Given the description of an element on the screen output the (x, y) to click on. 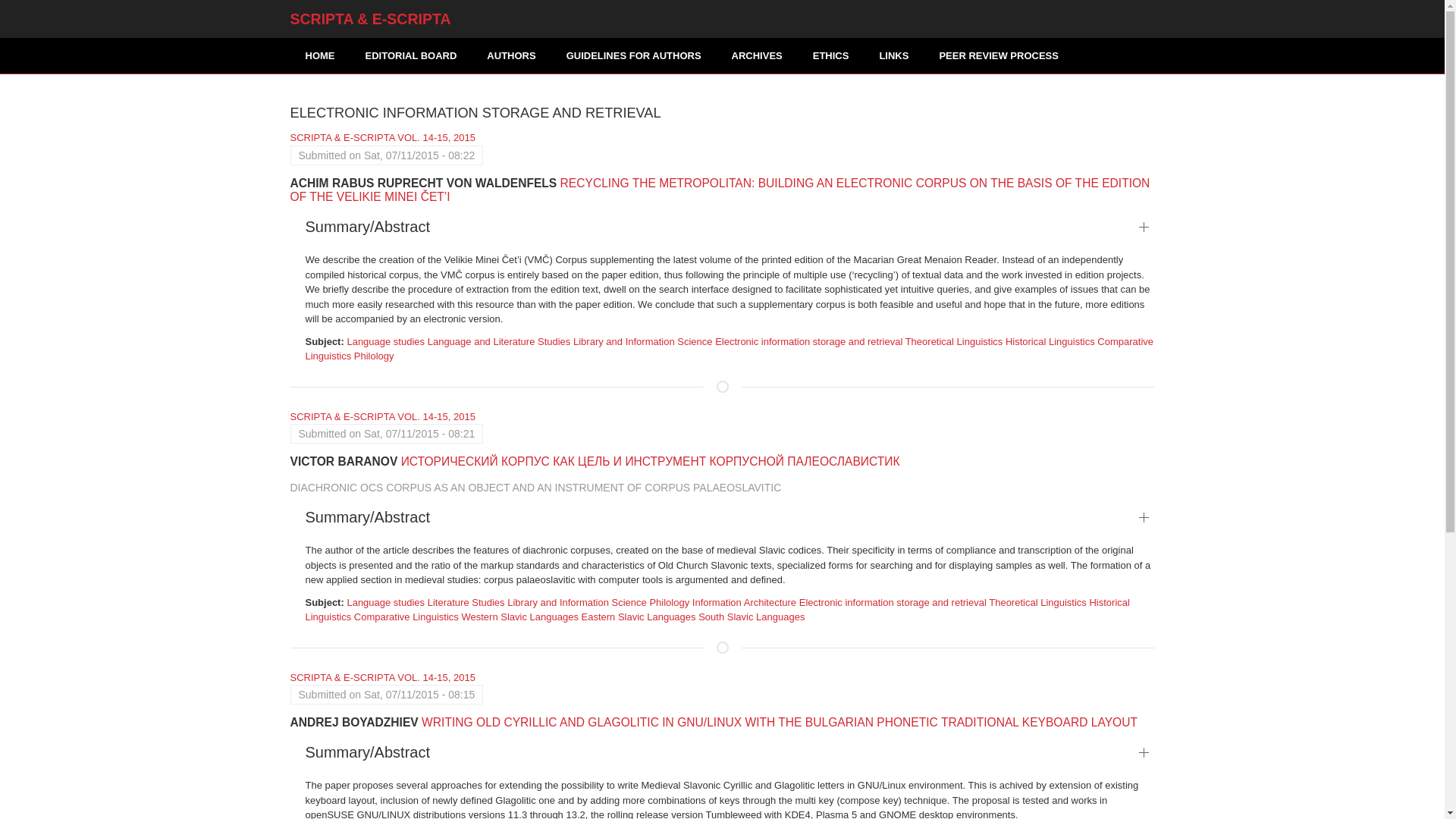
Electronic information storage and retrieval (808, 341)
LINKS (893, 55)
PEER REVIEW PROCESS (998, 55)
AUTHORS (510, 55)
Language and Literature Studies (499, 341)
GUIDELINES FOR AUTHORS (633, 55)
HOME (319, 55)
Theoretical Linguistics (954, 341)
Historical Linguistics (1050, 341)
